Given the description of an element on the screen output the (x, y) to click on. 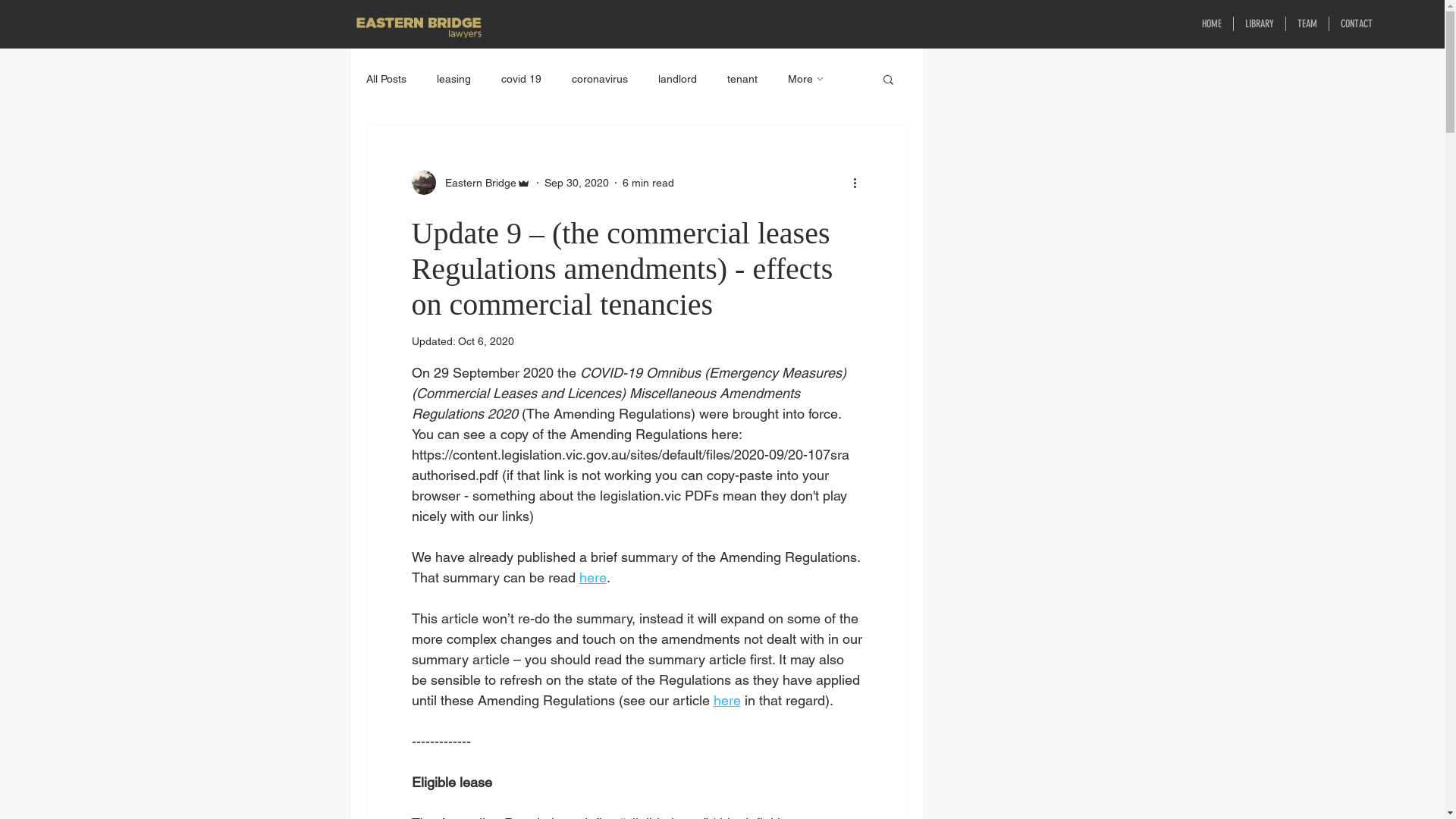
LIBRARY Element type: text (1259, 23)
All Posts Element type: text (385, 78)
covid 19 Element type: text (520, 78)
CONTACT Element type: text (1356, 23)
leasing Element type: text (453, 78)
here Element type: text (726, 700)
HOME Element type: text (1211, 23)
landlord Element type: text (677, 78)
Eastern Bridge Element type: text (470, 182)
tenant Element type: text (741, 78)
here Element type: text (592, 577)
Artboard 1.png Element type: hover (417, 26)
TEAM Element type: text (1307, 23)
coronavirus Element type: text (599, 78)
